Given the description of an element on the screen output the (x, y) to click on. 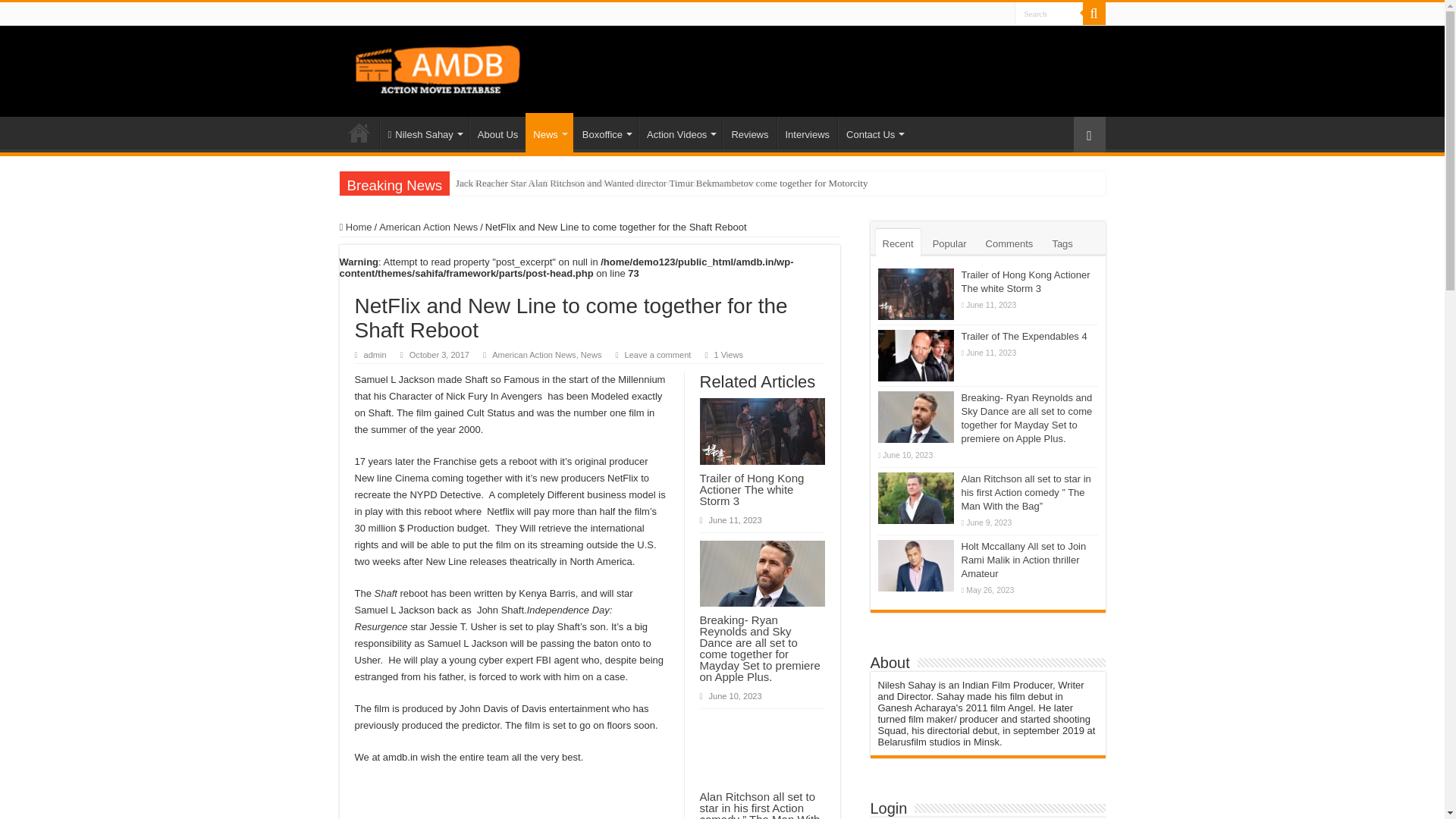
Search (1048, 13)
Nilesh Sahay (422, 132)
Search (1094, 13)
Search (1048, 13)
Home (358, 132)
About Us (496, 132)
Search (1048, 13)
News (549, 132)
Amdb (452, 66)
